Given the description of an element on the screen output the (x, y) to click on. 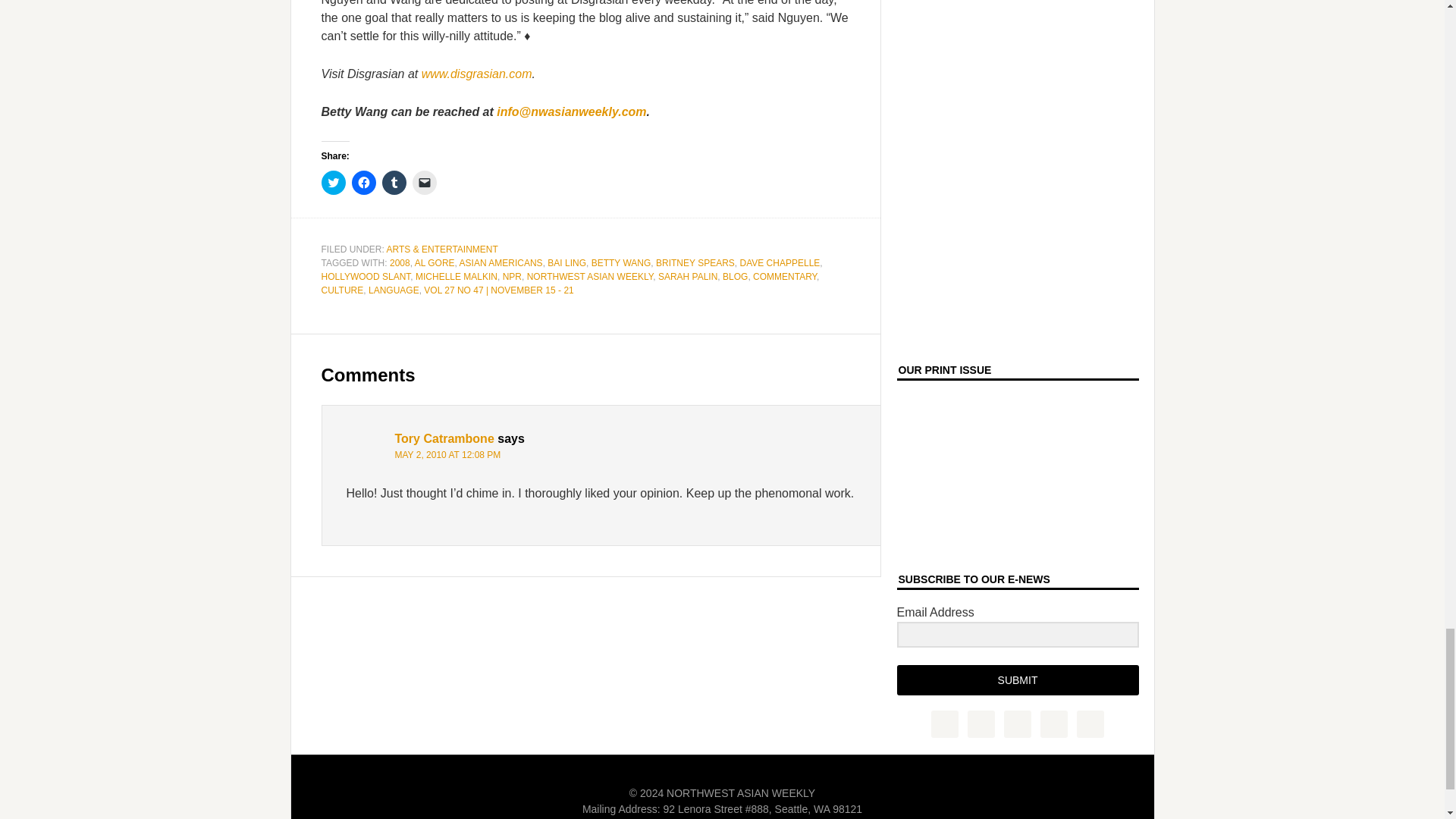
Click to share on Tumblr (393, 182)
Click to share on Facebook (363, 182)
Click to email a link to a friend (424, 182)
Click to share on Twitter (333, 182)
